Given the description of an element on the screen output the (x, y) to click on. 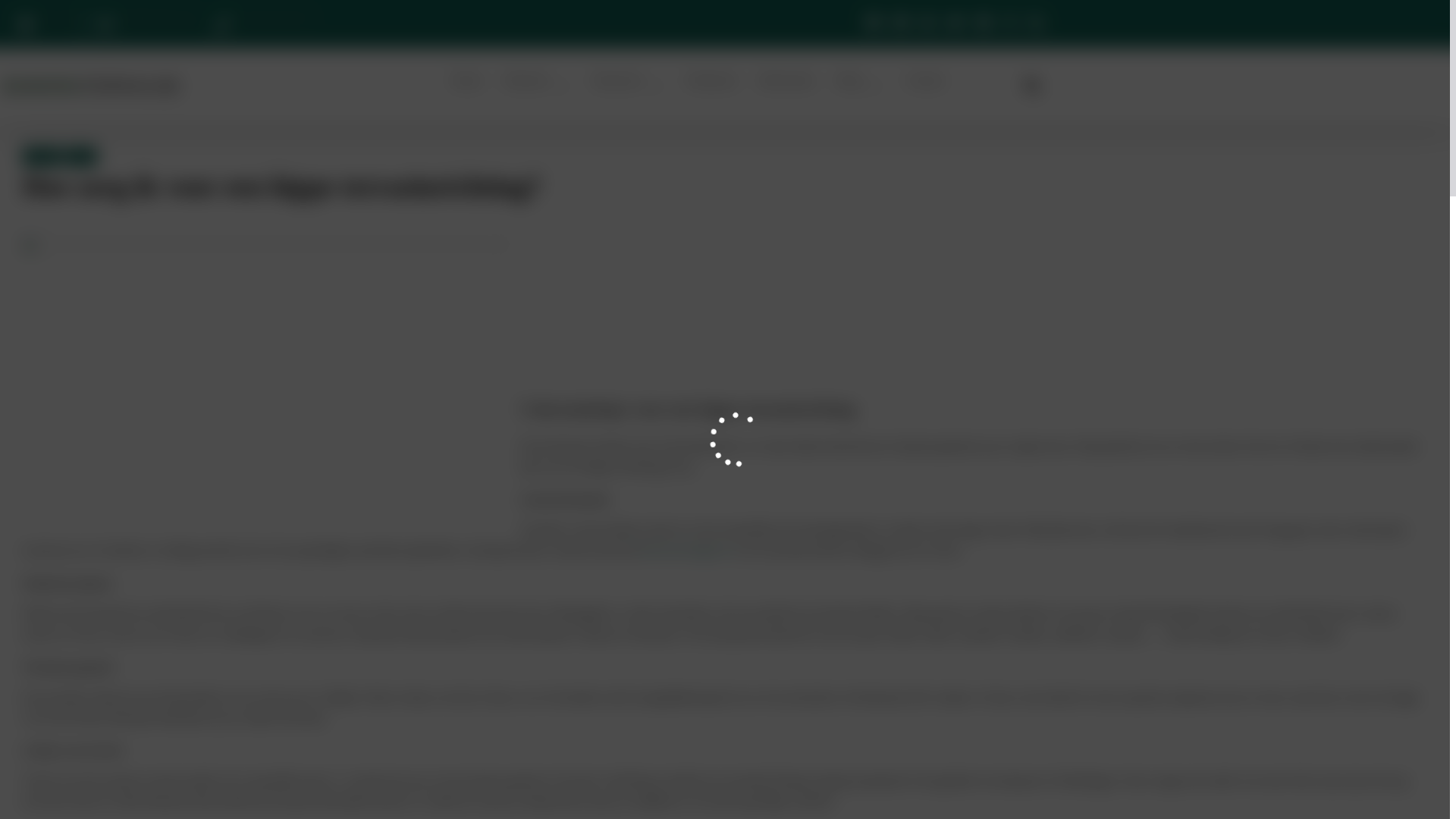
Contact Element type: text (925, 80)
Houtsoort Element type: text (628, 86)
HOME Element type: text (41, 156)
Producten Element type: text (711, 80)
Deterrasreiniger.be Element type: text (685, 549)
FAQ Element type: text (80, 156)
Referenties Element type: text (786, 80)
Blog Element type: text (860, 86)
Diensten Element type: text (538, 86)
info@tuinterras.be Element type: text (148, 24)
+32 475 26 23 54 Element type: text (262, 24)
Home Element type: text (466, 80)
